Given the description of an element on the screen output the (x, y) to click on. 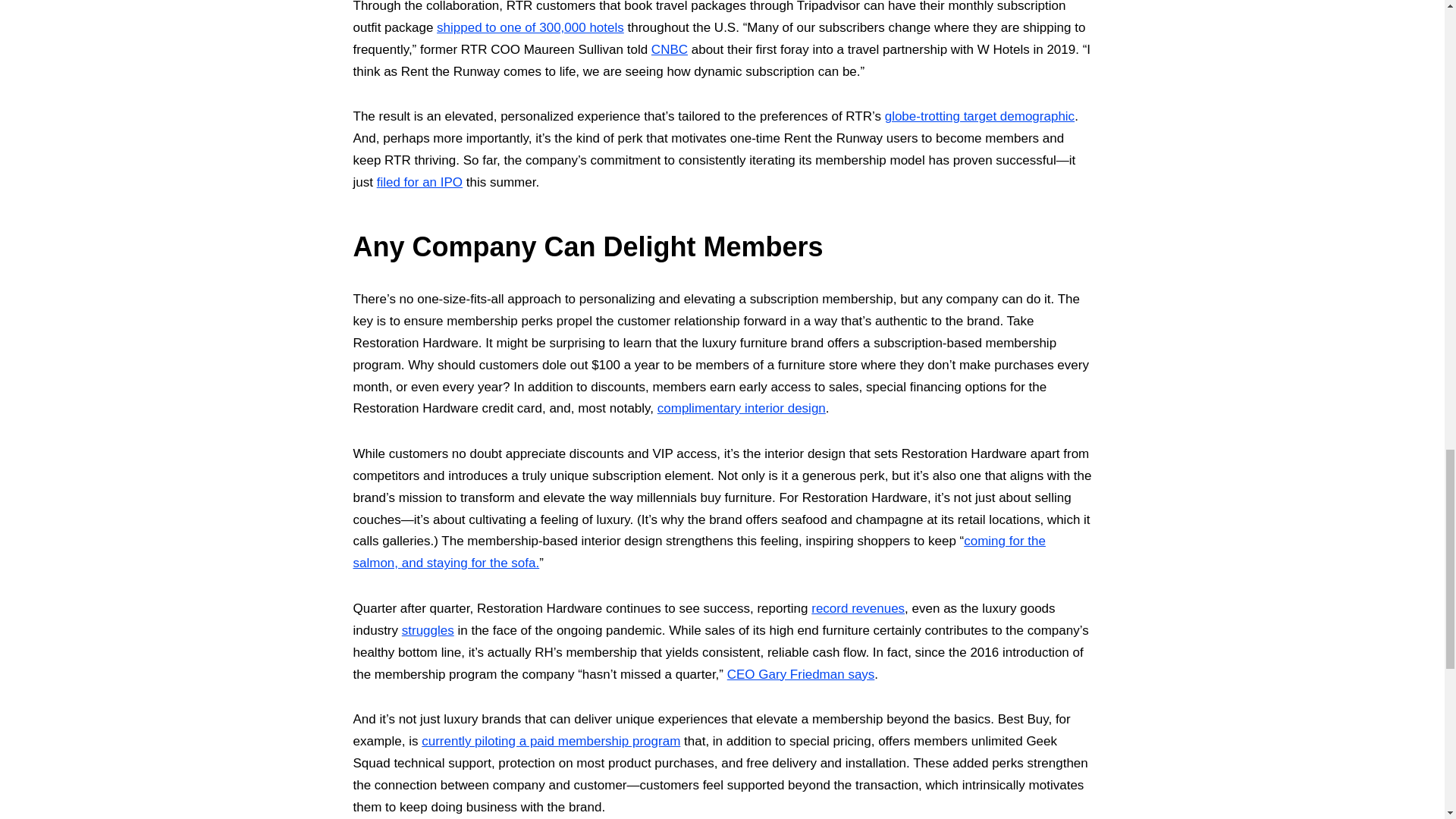
globe-trotting target demographic (979, 115)
shipped to one of 300,000 hotels (530, 27)
filed for an IPO (420, 182)
CNBC (668, 49)
